Given the description of an element on the screen output the (x, y) to click on. 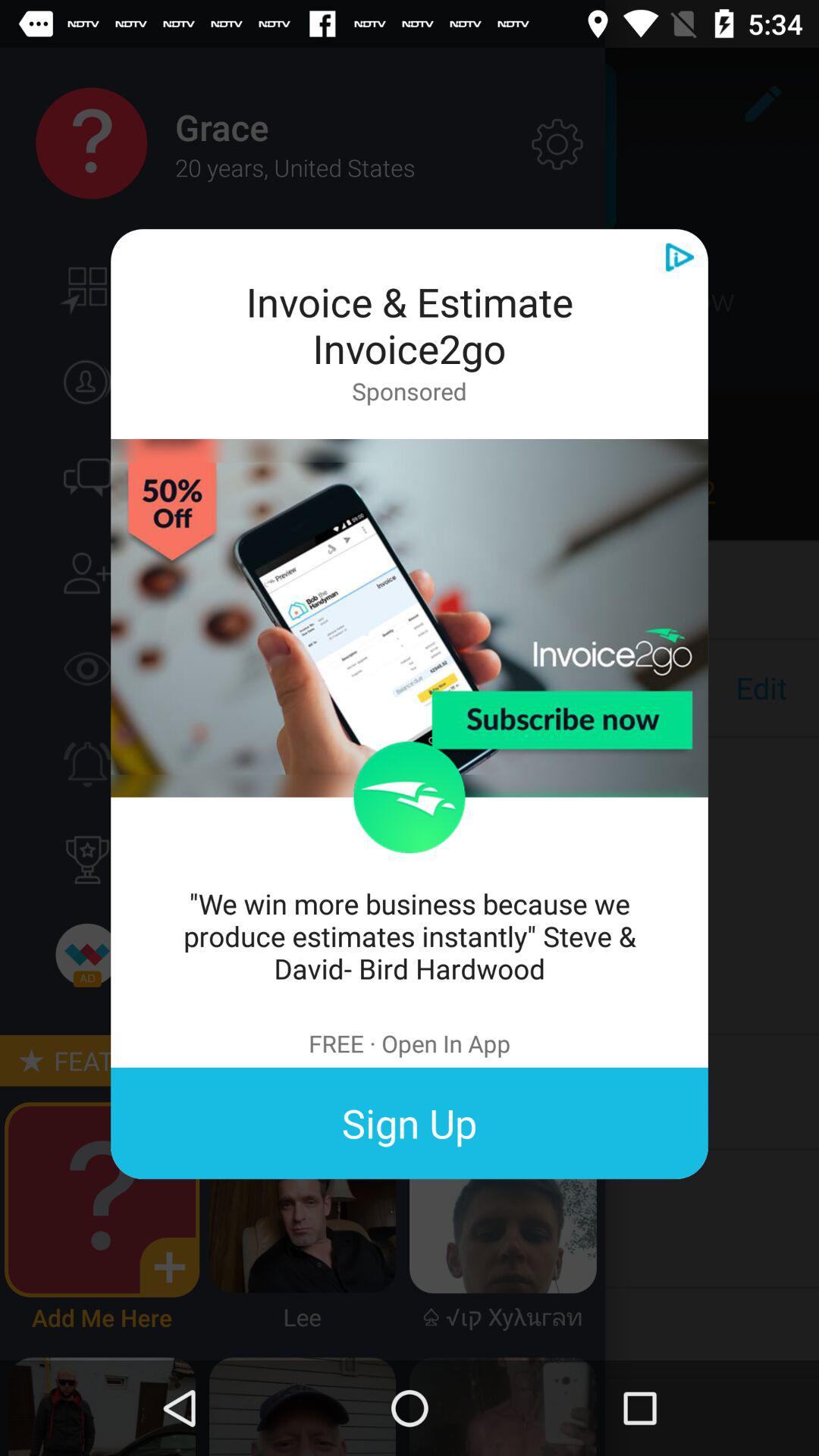
click the item above we win more item (409, 797)
